Given the description of an element on the screen output the (x, y) to click on. 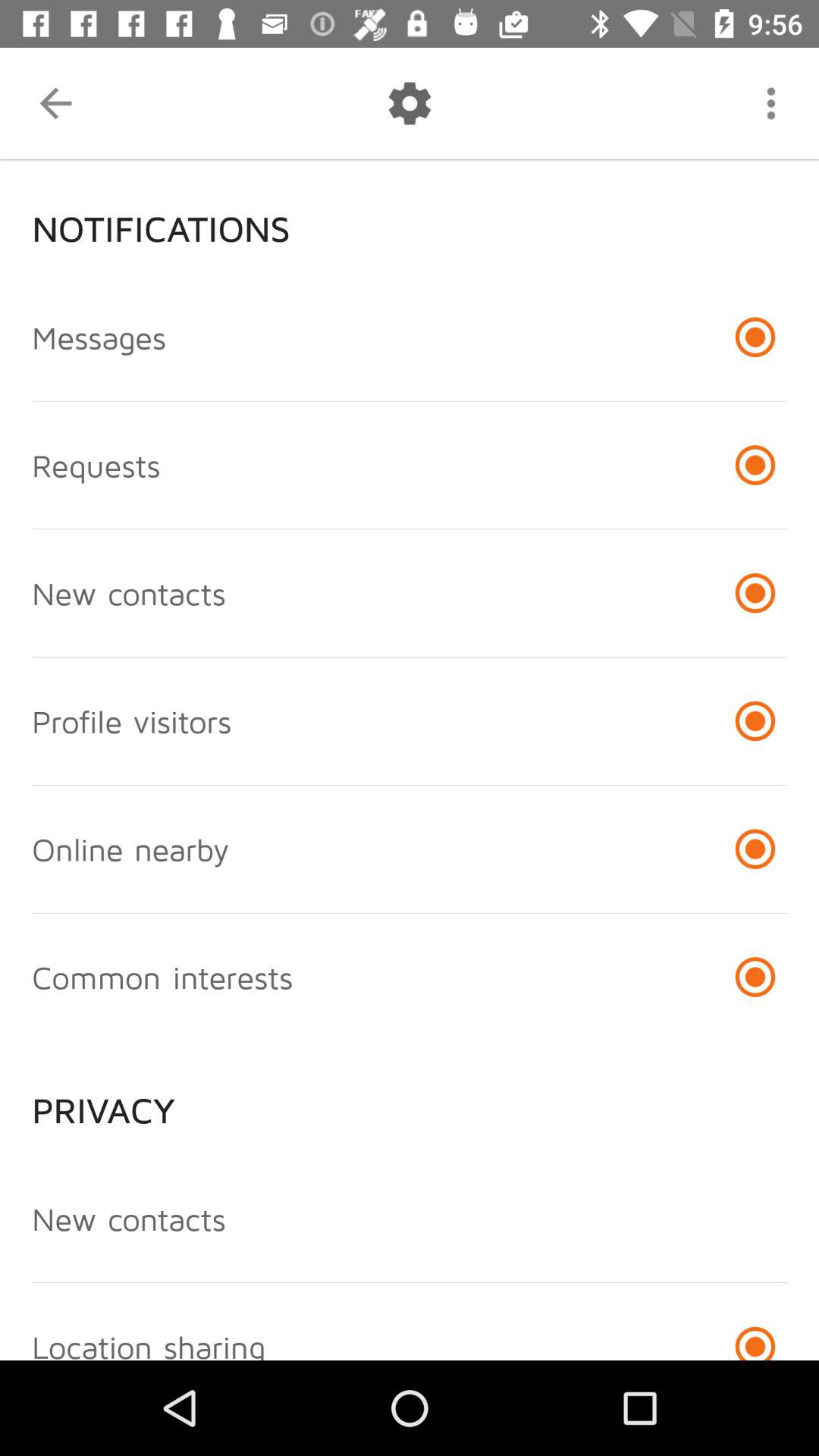
click messages item (98, 336)
